Given the description of an element on the screen output the (x, y) to click on. 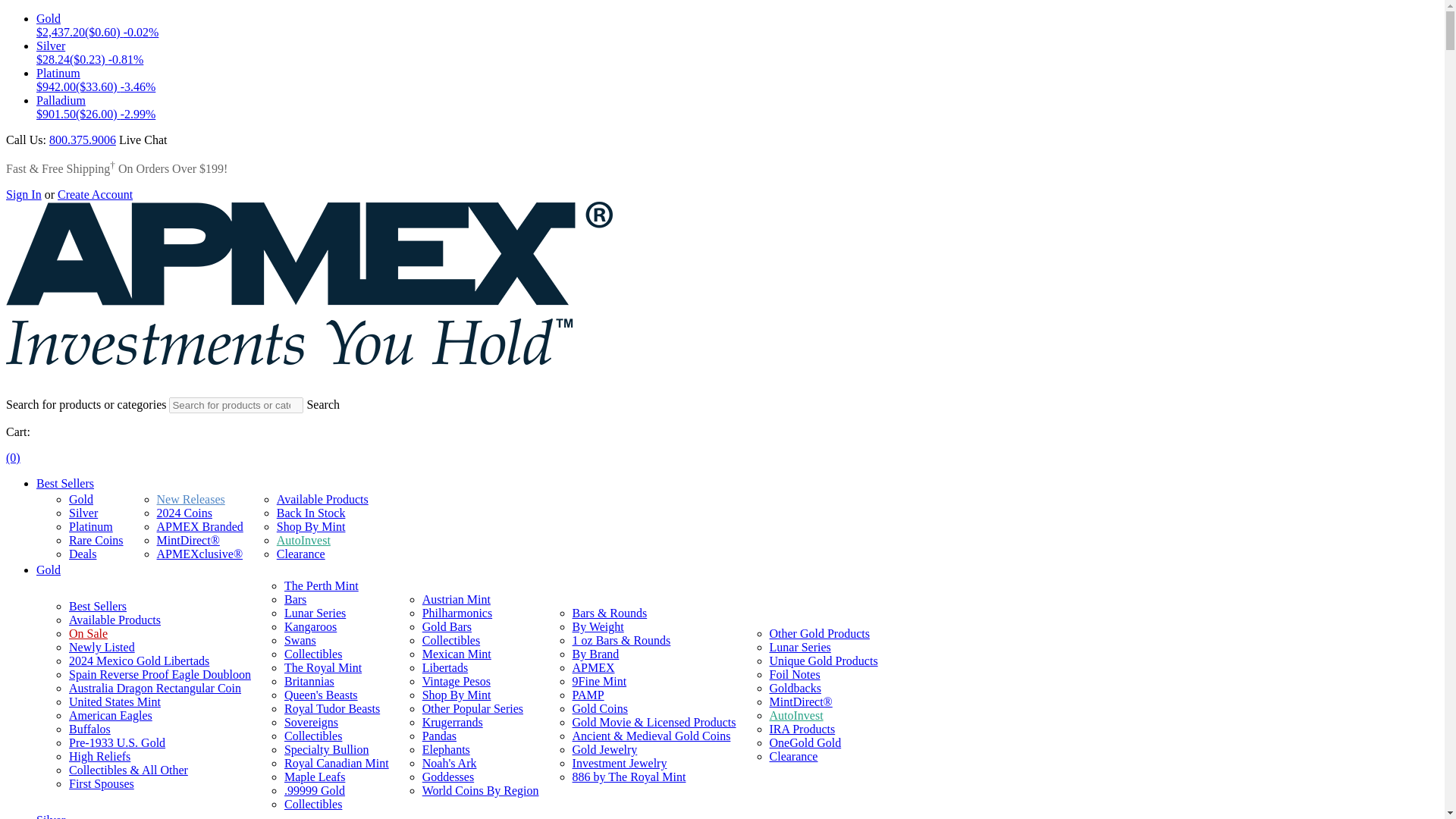
Available Products (322, 499)
Sign In (23, 194)
Deals (82, 553)
APMEX Branded (200, 526)
Shop By Mint (311, 526)
Back In Stock (311, 512)
Pre-1933 U.S. Gold (116, 742)
Login (23, 194)
Create A Free Account (95, 194)
New Releases (191, 499)
Best Sellers (97, 605)
Gold (80, 499)
American Eagles (110, 715)
Australia Dragon Rectangular Coin (154, 687)
Silver (82, 512)
